Given the description of an element on the screen output the (x, y) to click on. 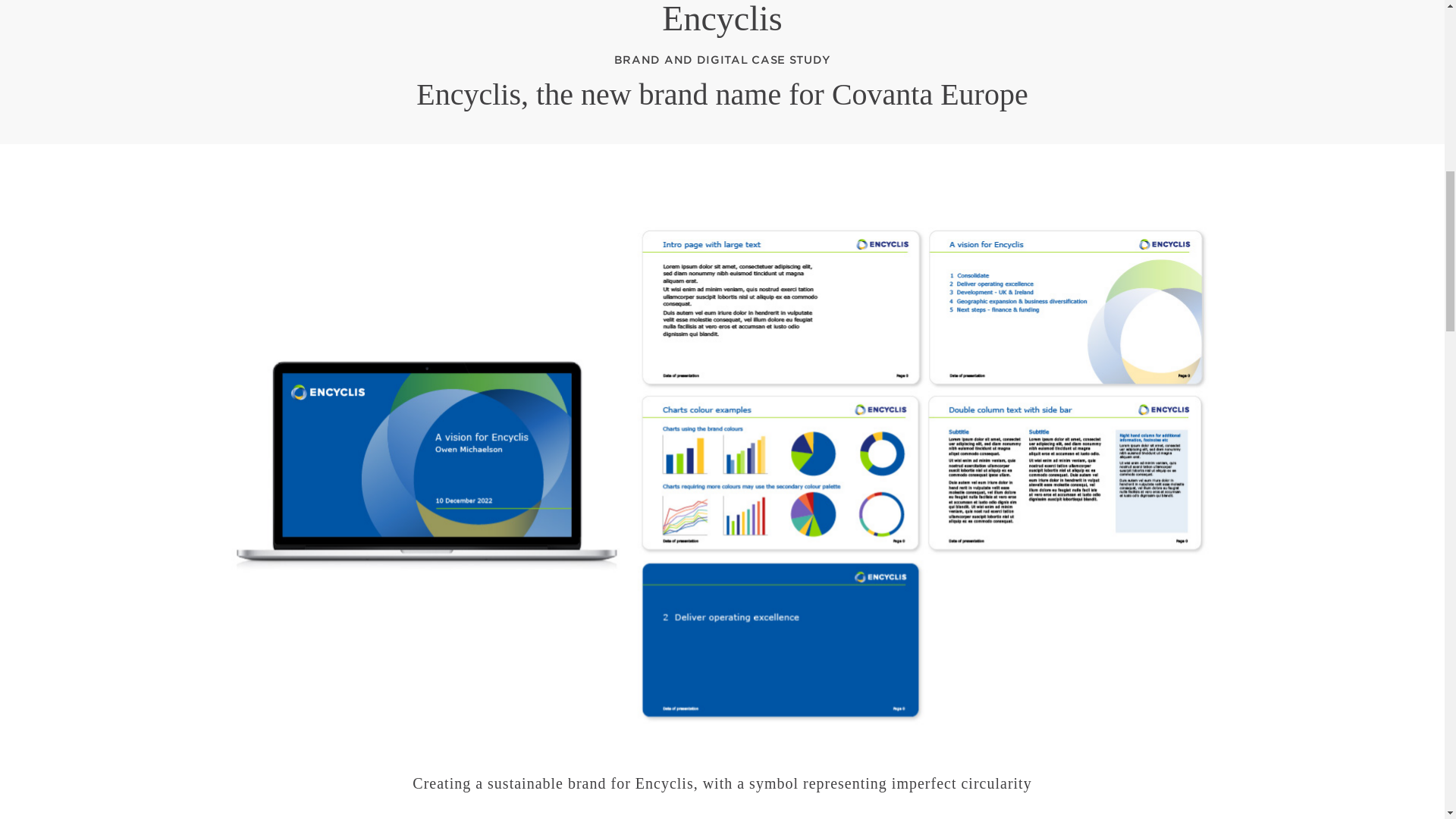
1 (682, 755)
